Given the description of an element on the screen output the (x, y) to click on. 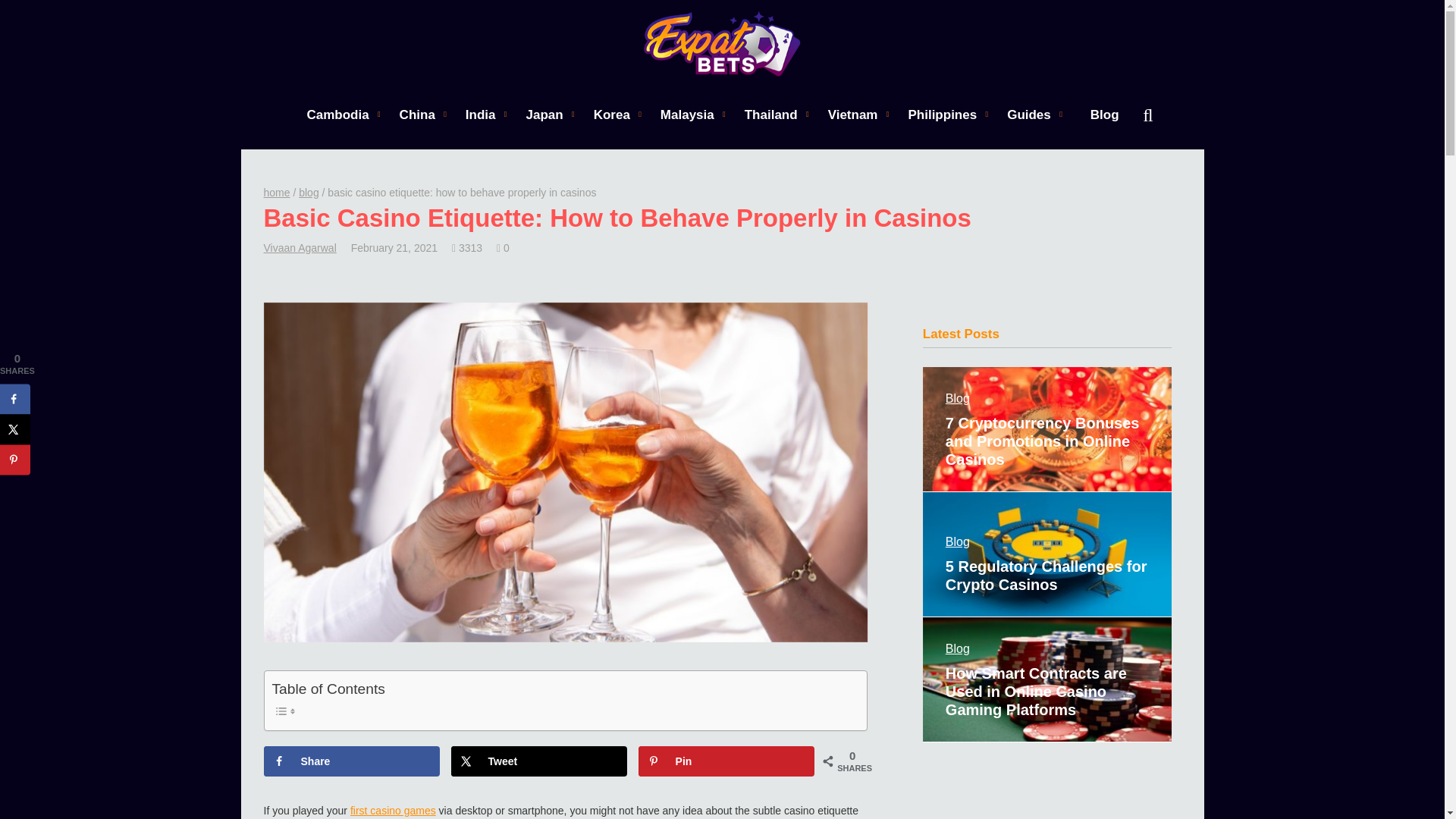
Share on Facebook (352, 761)
Expat Bets (721, 43)
Cambodia (336, 114)
Posts by Vivaan Agarwal (299, 247)
